Given the description of an element on the screen output the (x, y) to click on. 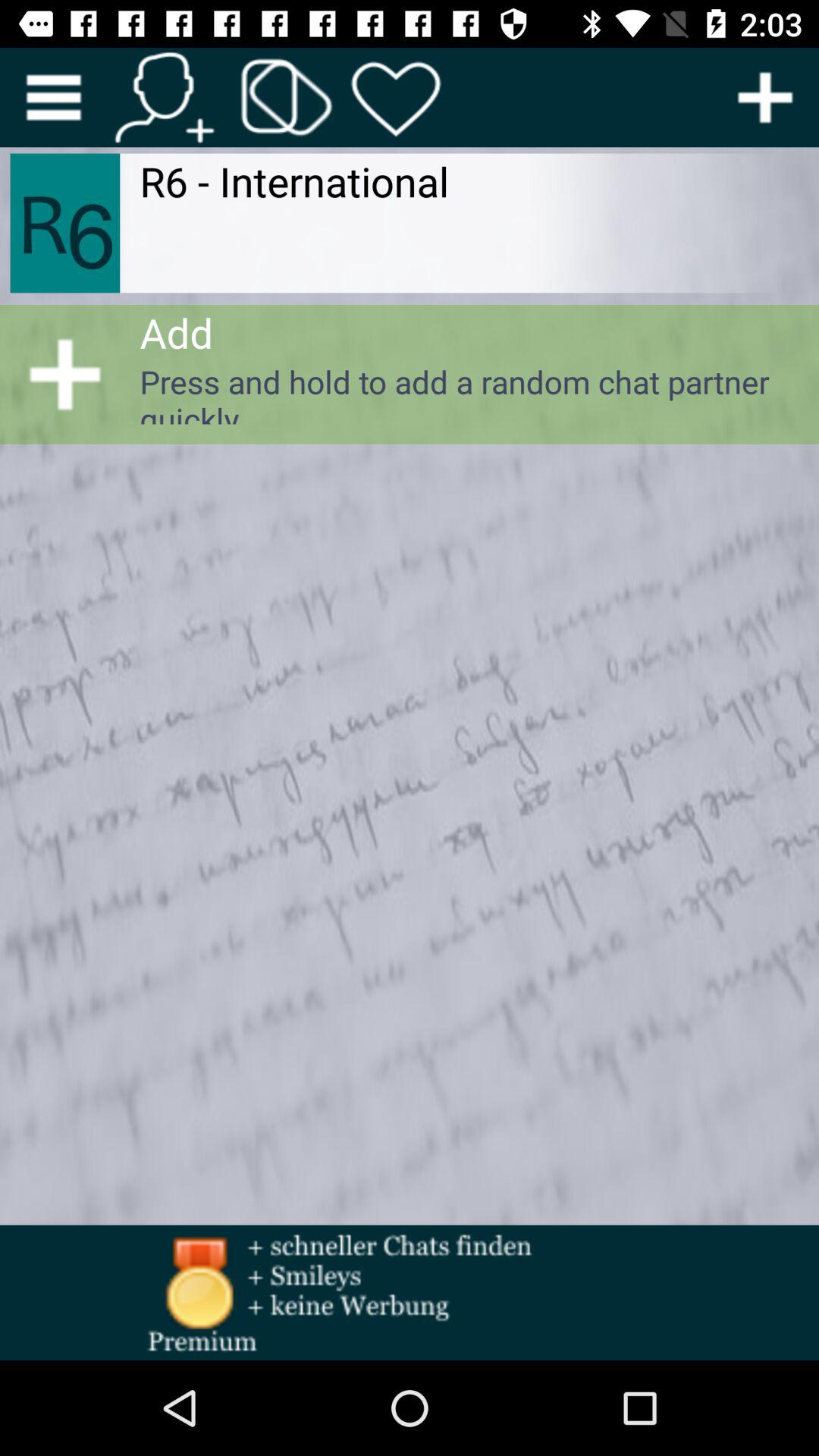
go to like (396, 97)
